Given the description of an element on the screen output the (x, y) to click on. 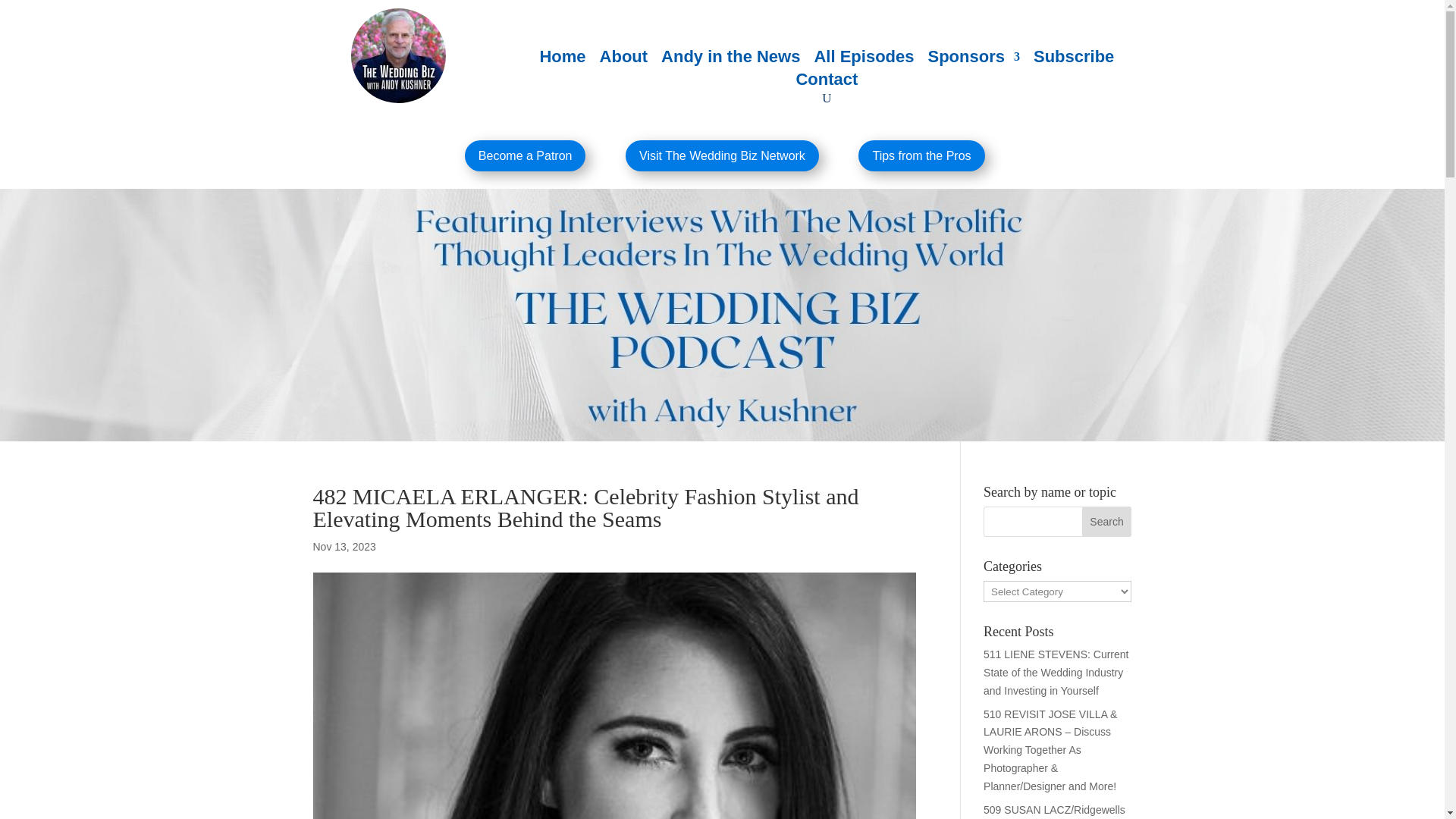
TWB Logo 125b (397, 55)
About (623, 59)
Contact (825, 82)
Home (561, 59)
Search (1106, 521)
Tips from the Pros (921, 155)
Subscribe (1073, 59)
Sponsors (974, 59)
Andy in the News (730, 59)
Visit The Wedding Biz Network (722, 155)
All Episodes (863, 59)
Become a Patron (525, 155)
